Given the description of an element on the screen output the (x, y) to click on. 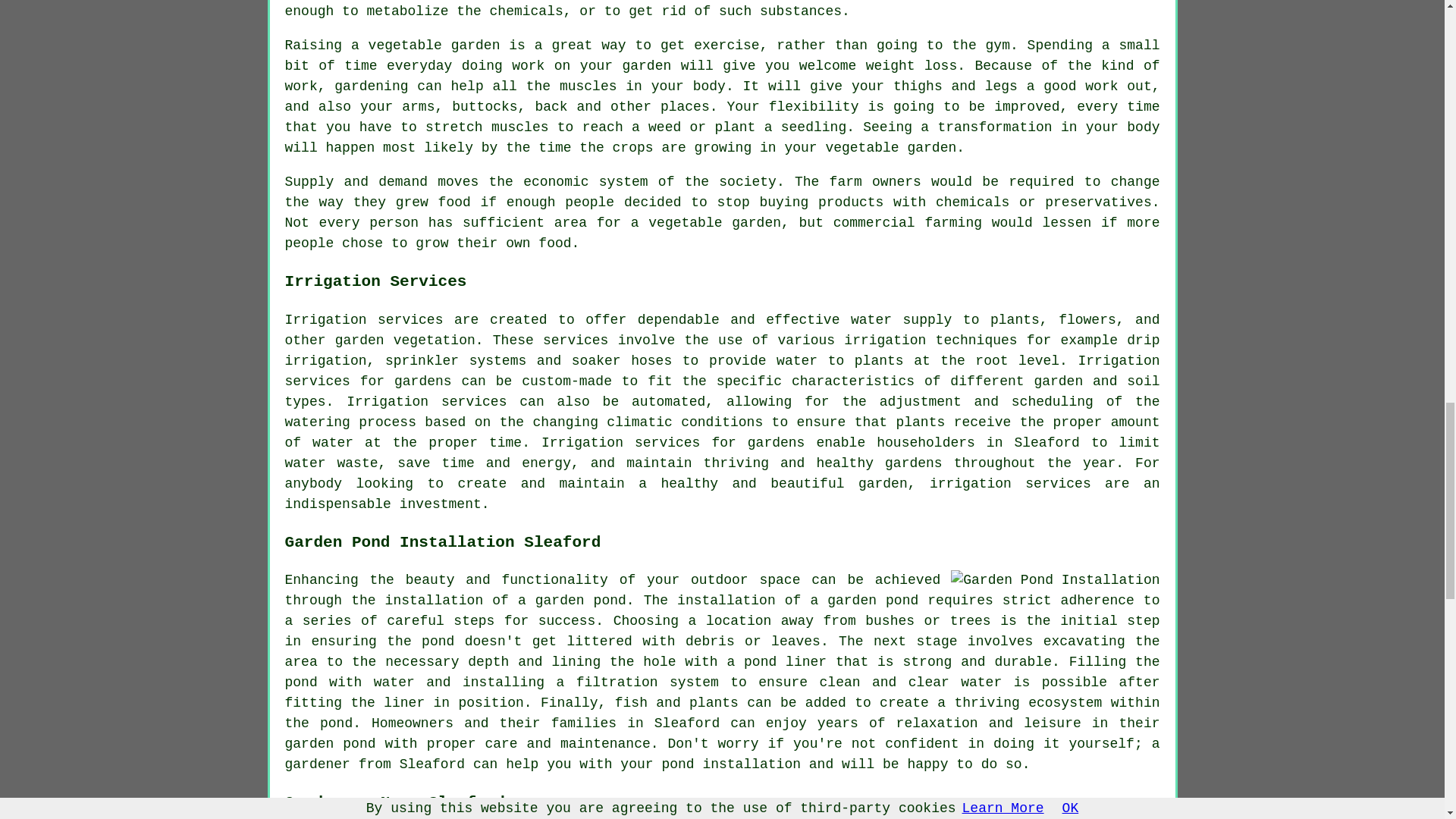
a garden pond (863, 600)
Garden Pond Installation (1054, 580)
irrigation (885, 339)
